Given the description of an element on the screen output the (x, y) to click on. 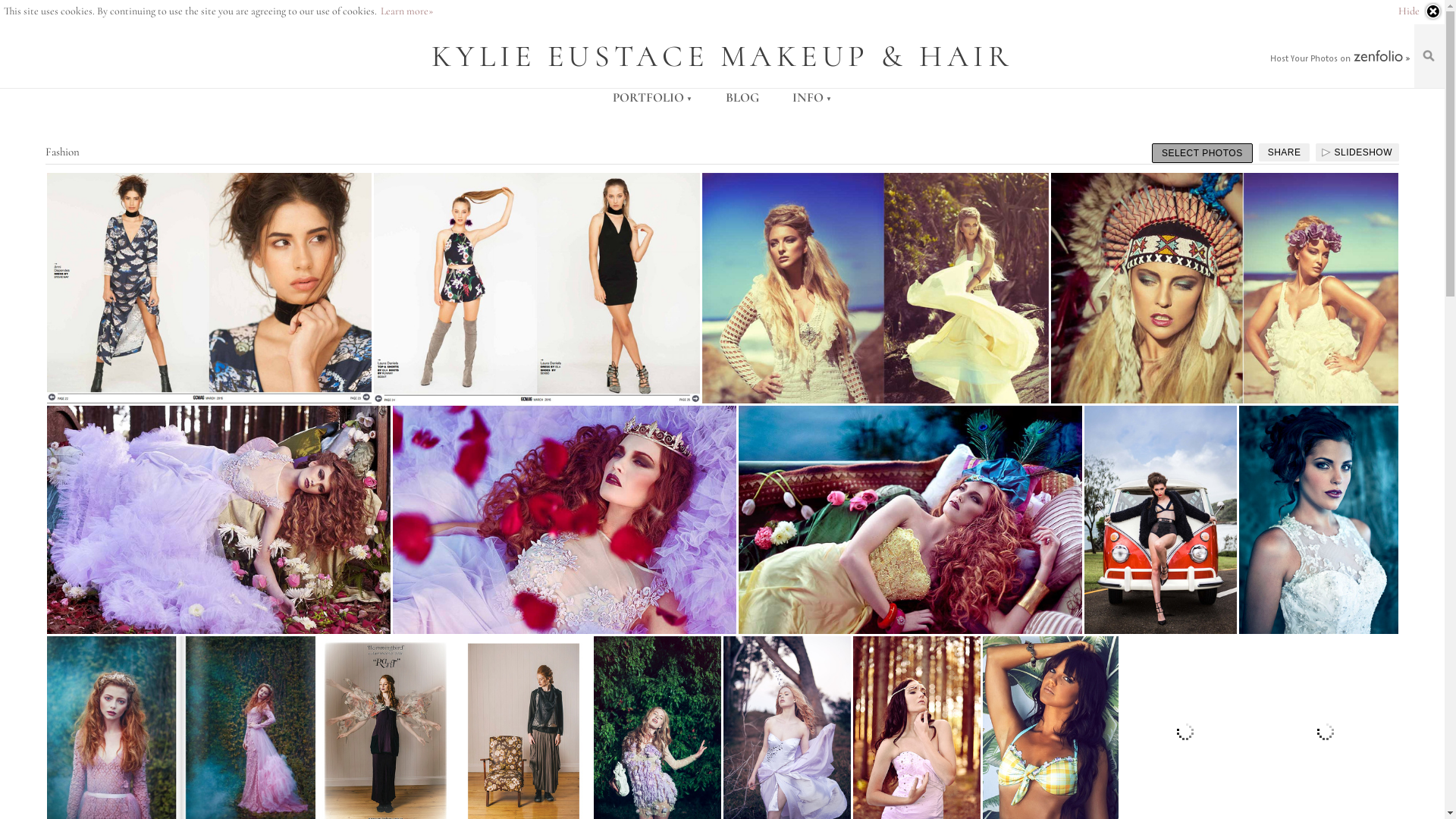
BLOG Element type: text (742, 97)
KYLIE EUSTACE MAKEUP & HAIR Element type: text (722, 54)
Hide Element type: text (1420, 11)
Host Your Photos on Zenfolio Element type: hover (1338, 56)
